Given the description of an element on the screen output the (x, y) to click on. 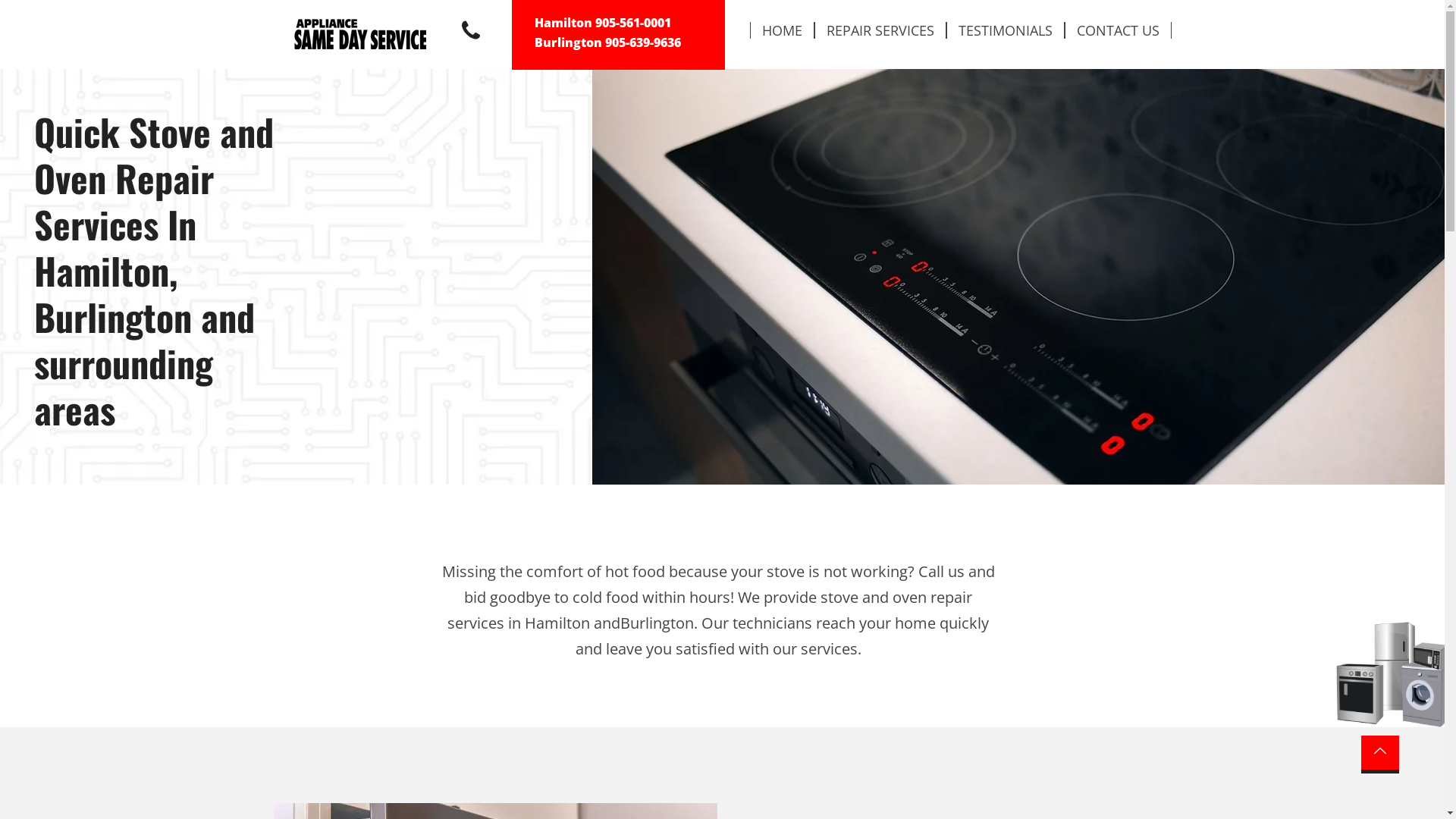
TESTIMONIALS Element type: text (1005, 29)
905-561-0001 Element type: text (632, 22)
HOME Element type: text (781, 29)
CONTACT US Element type: text (1117, 29)
905-639-9636 Element type: text (642, 42)
